Given the description of an element on the screen output the (x, y) to click on. 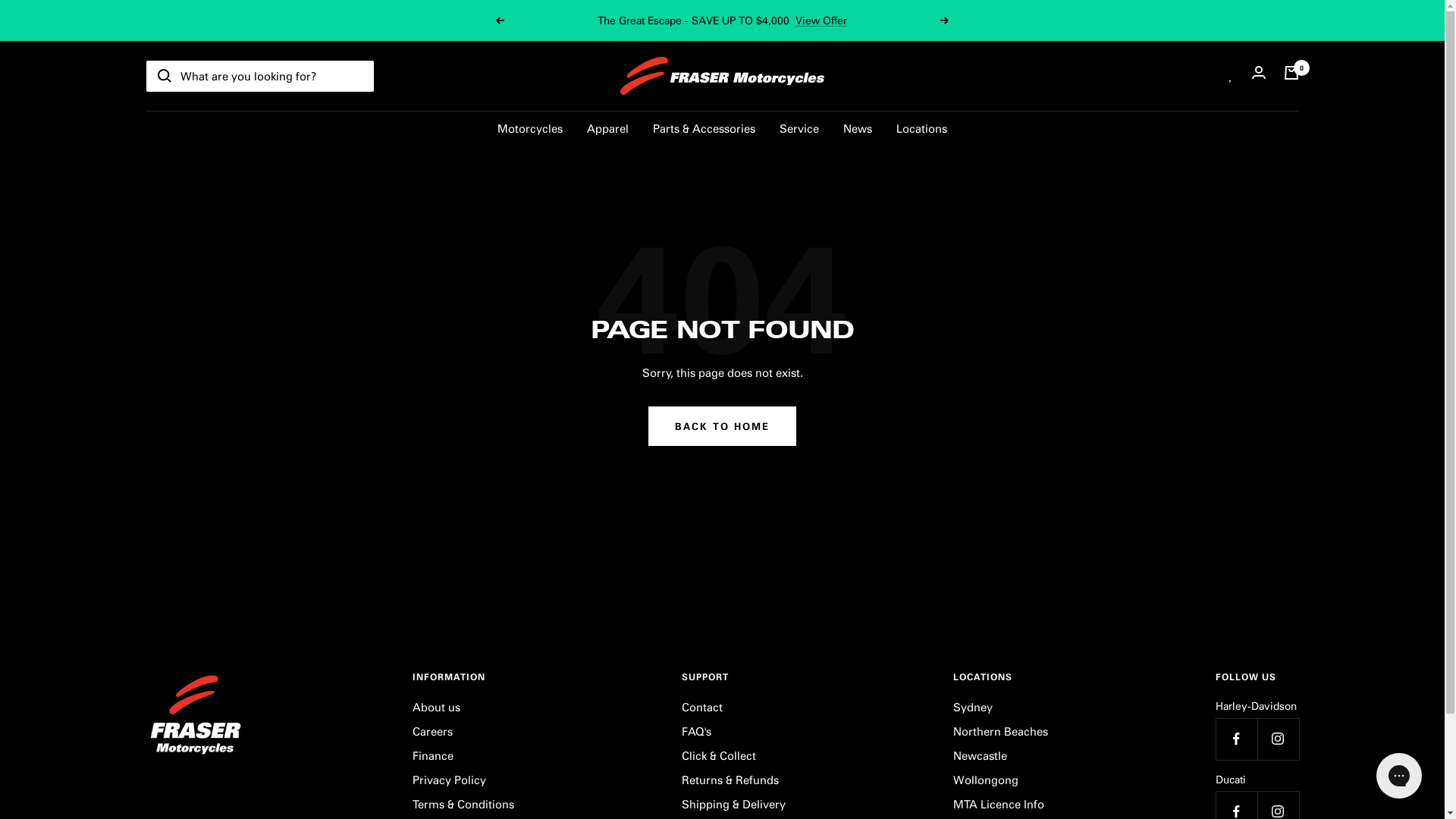
Motorcycles Element type: text (529, 128)
Newcastle Element type: text (979, 755)
FAQ's Element type: text (695, 730)
MTA Licence Info Element type: text (997, 803)
Apparel Element type: text (607, 128)
Sydney Element type: text (971, 706)
Service Element type: text (799, 128)
BACK TO HOME Element type: text (722, 425)
Northern Beaches Element type: text (999, 730)
About us Element type: text (436, 706)
Privacy Policy Element type: text (449, 779)
Fraser Motorcycles Element type: text (721, 75)
Gorgias live chat messenger Element type: hover (1398, 775)
Returns & Refunds Element type: text (729, 779)
Finance Element type: text (432, 755)
Careers Element type: text (432, 730)
Previous Element type: text (499, 20)
Terms & Conditions Element type: text (463, 803)
Locations Element type: text (921, 128)
0 Element type: text (1290, 75)
See Locations Element type: text (792, 20)
Shipping & Delivery Element type: text (732, 803)
1300 37 27 37 Element type: text (717, 19)
Contact Element type: text (700, 706)
Wollongong Element type: text (984, 779)
Parts & Accessories Element type: text (703, 128)
Click & Collect Element type: text (717, 755)
News Element type: text (857, 128)
Next Element type: text (944, 20)
